Given the description of an element on the screen output the (x, y) to click on. 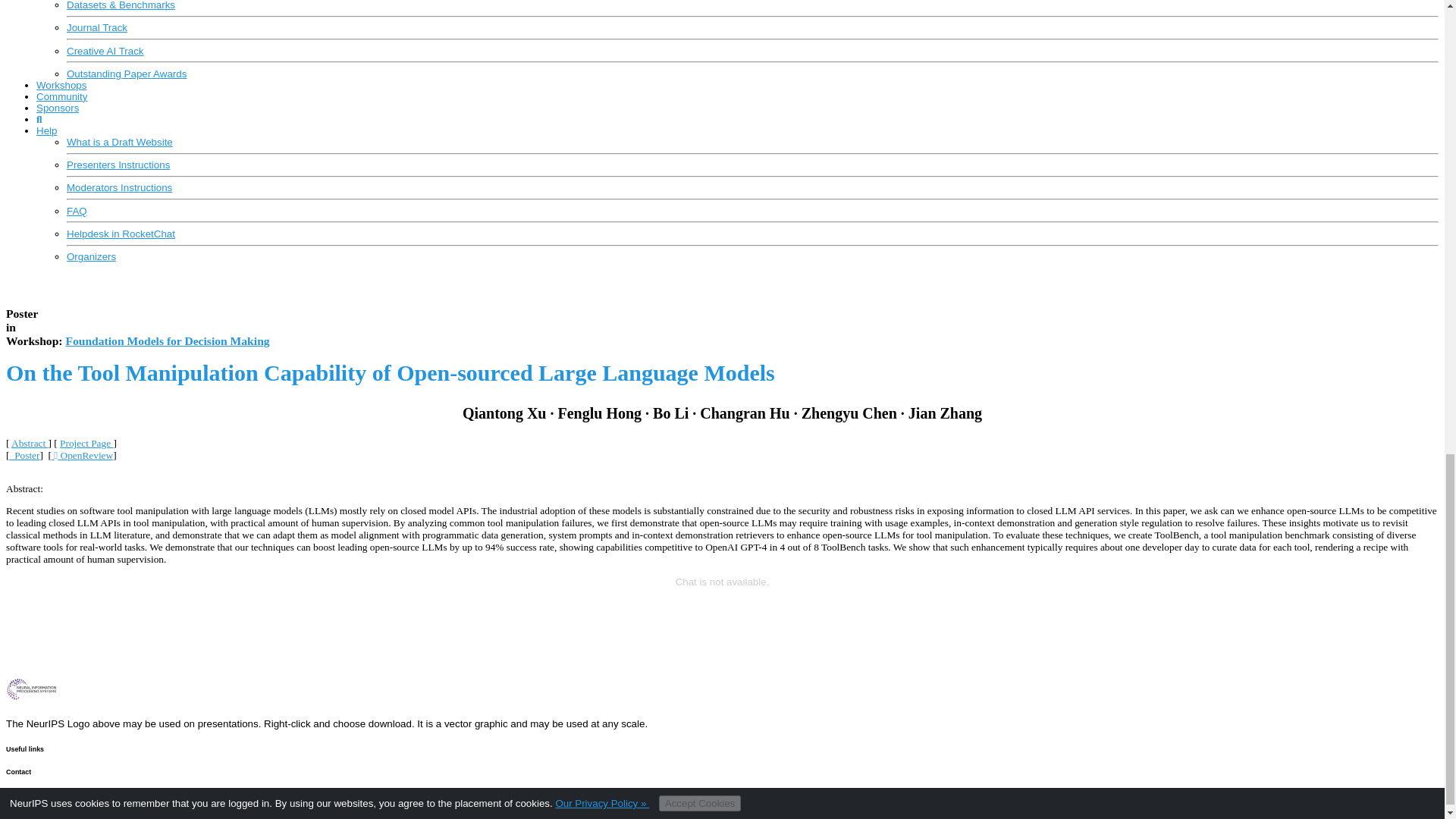
OpenReview (81, 455)
Poster (23, 455)
